Given the description of an element on the screen output the (x, y) to click on. 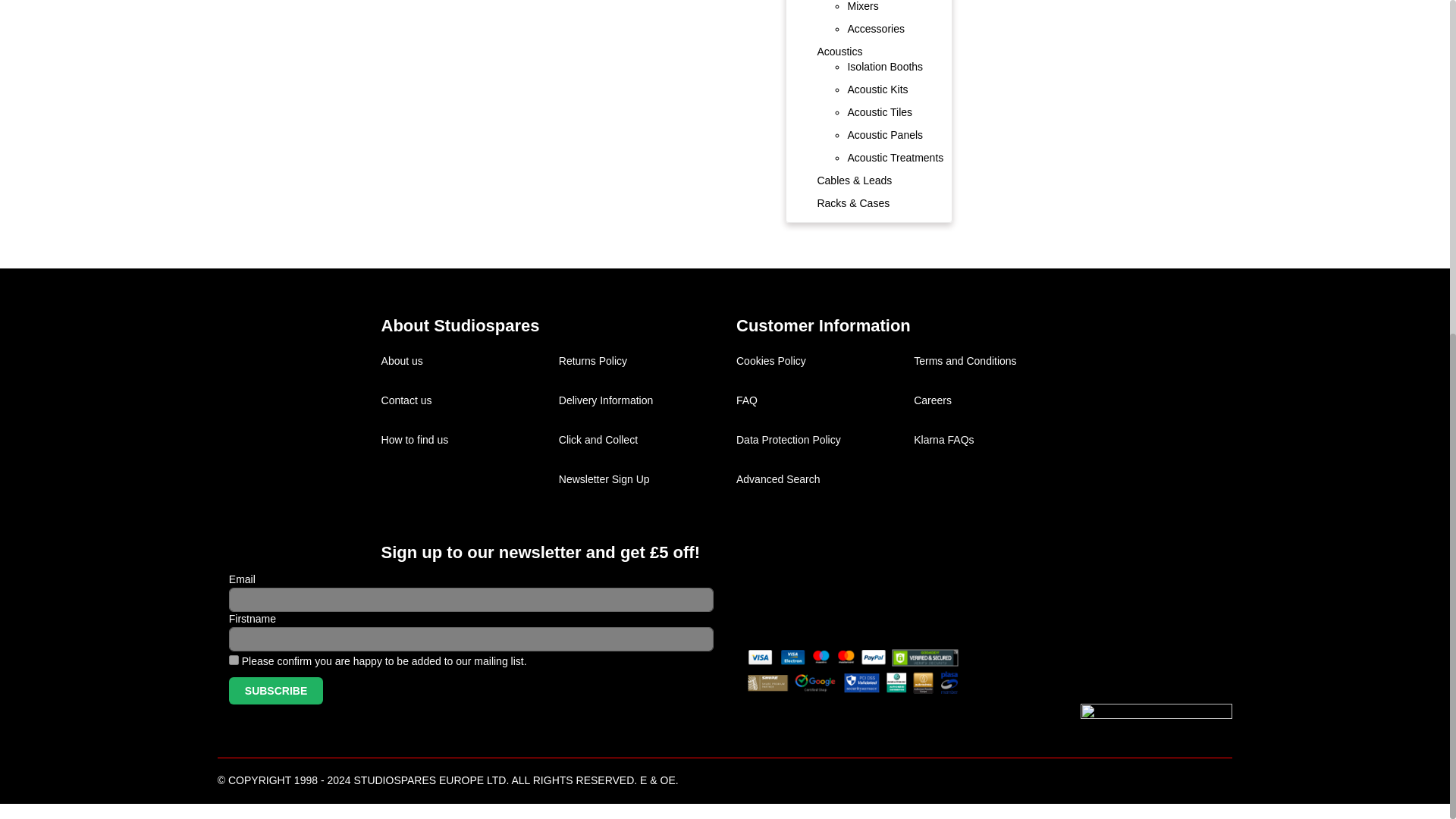
on (233, 660)
Subscribe (275, 690)
